Given the description of an element on the screen output the (x, y) to click on. 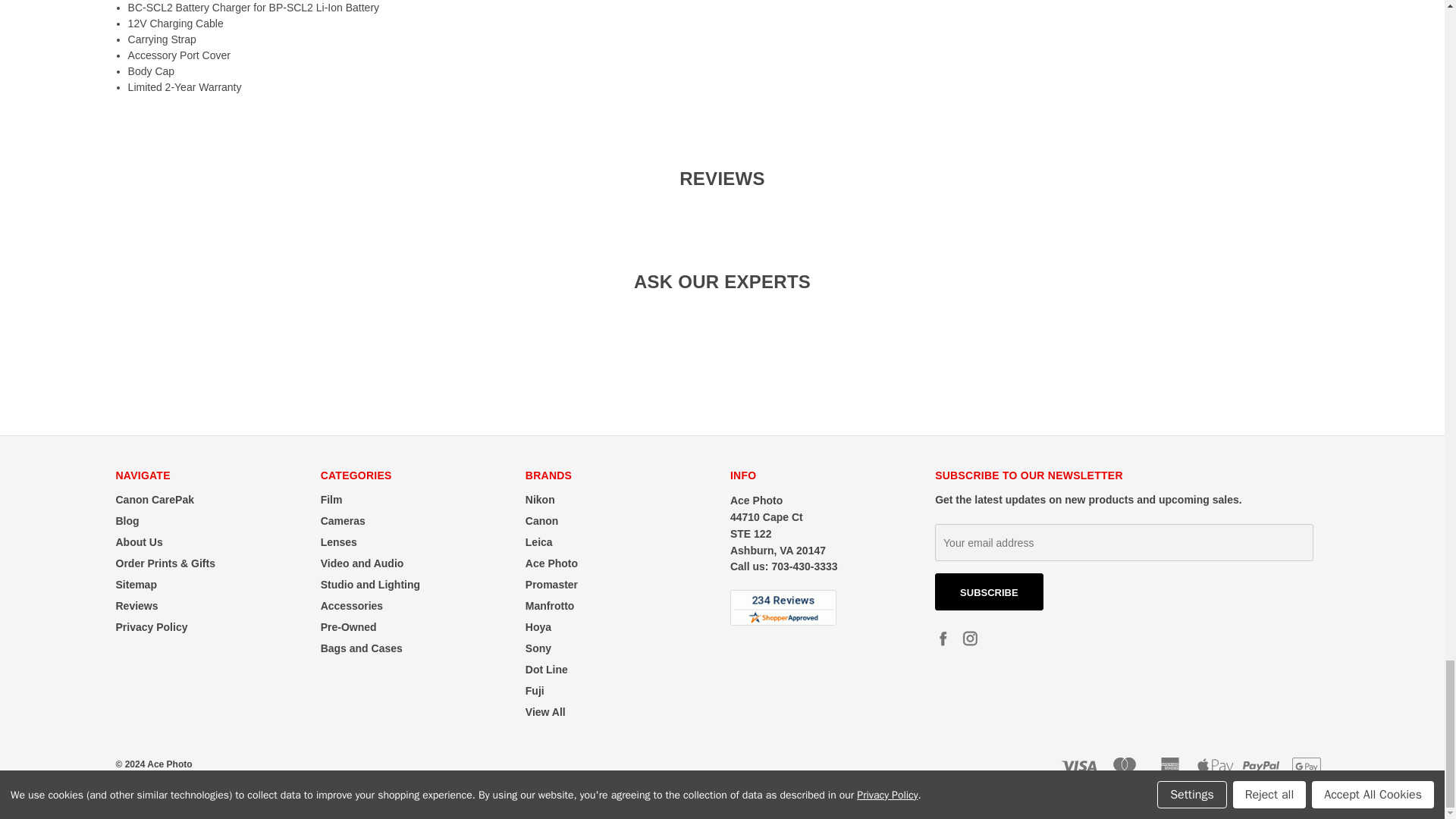
Subscribe (988, 591)
